Given the description of an element on the screen output the (x, y) to click on. 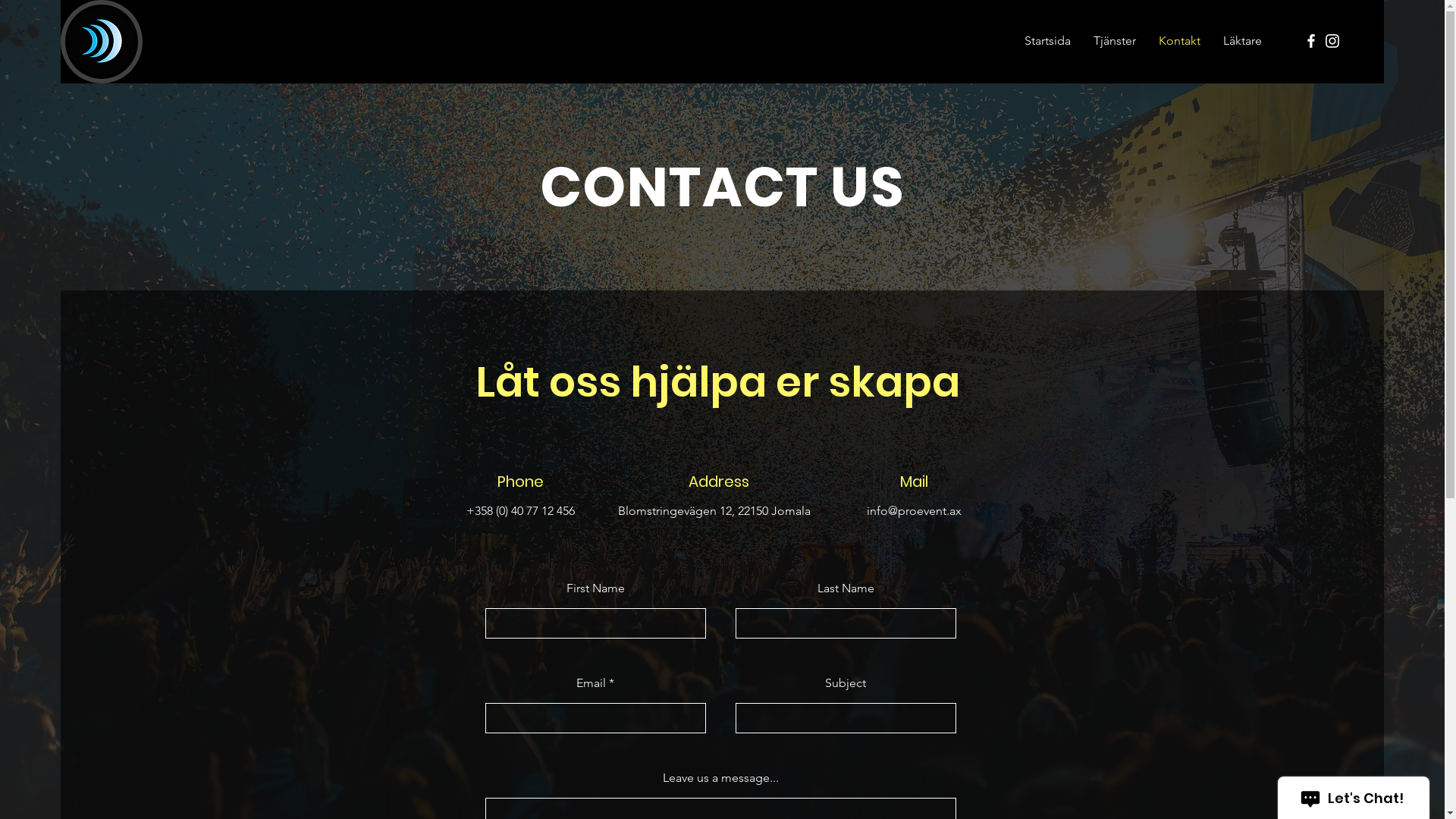
info@proevent.ax Element type: text (913, 510)
Kontakt Element type: text (1179, 40)
Startsida Element type: text (1047, 40)
